Given the description of an element on the screen output the (x, y) to click on. 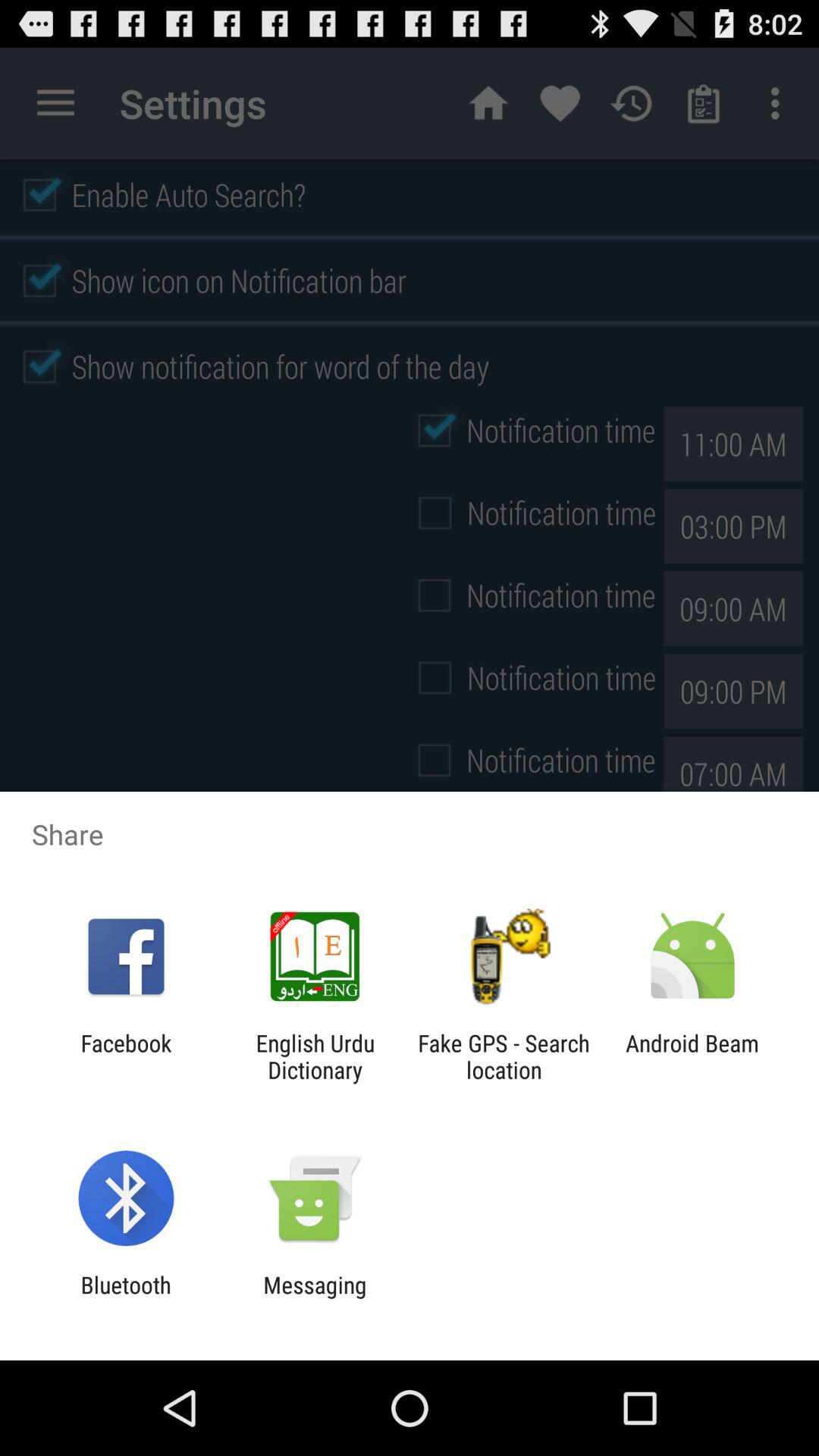
press item next to the android beam item (503, 1056)
